Given the description of an element on the screen output the (x, y) to click on. 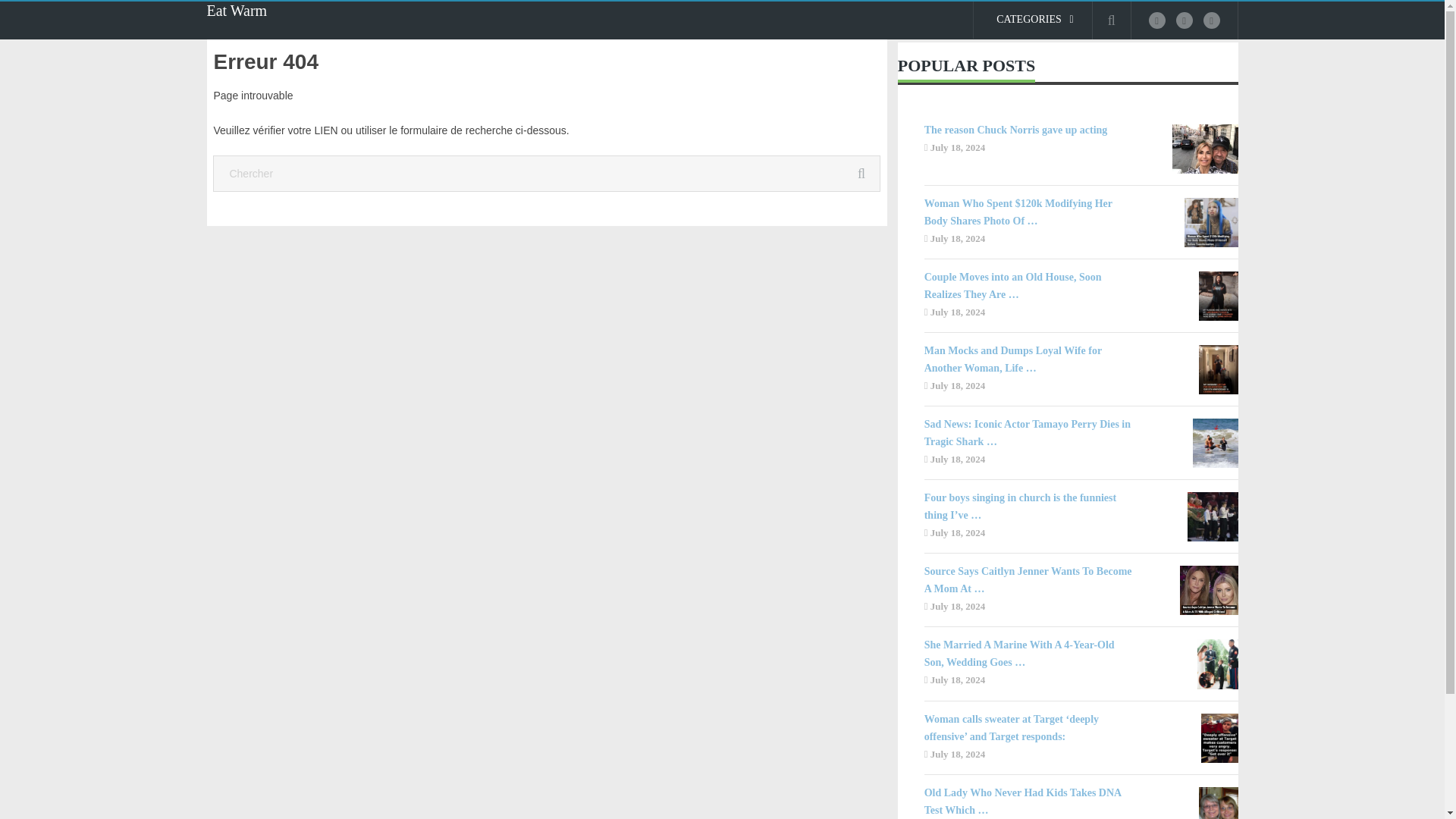
The reason Chuck Norris gave up acting (1030, 129)
The reason Chuck Norris gave up acting (1030, 129)
Eat Warm (236, 10)
CATEGORIES (1033, 19)
